Given the description of an element on the screen output the (x, y) to click on. 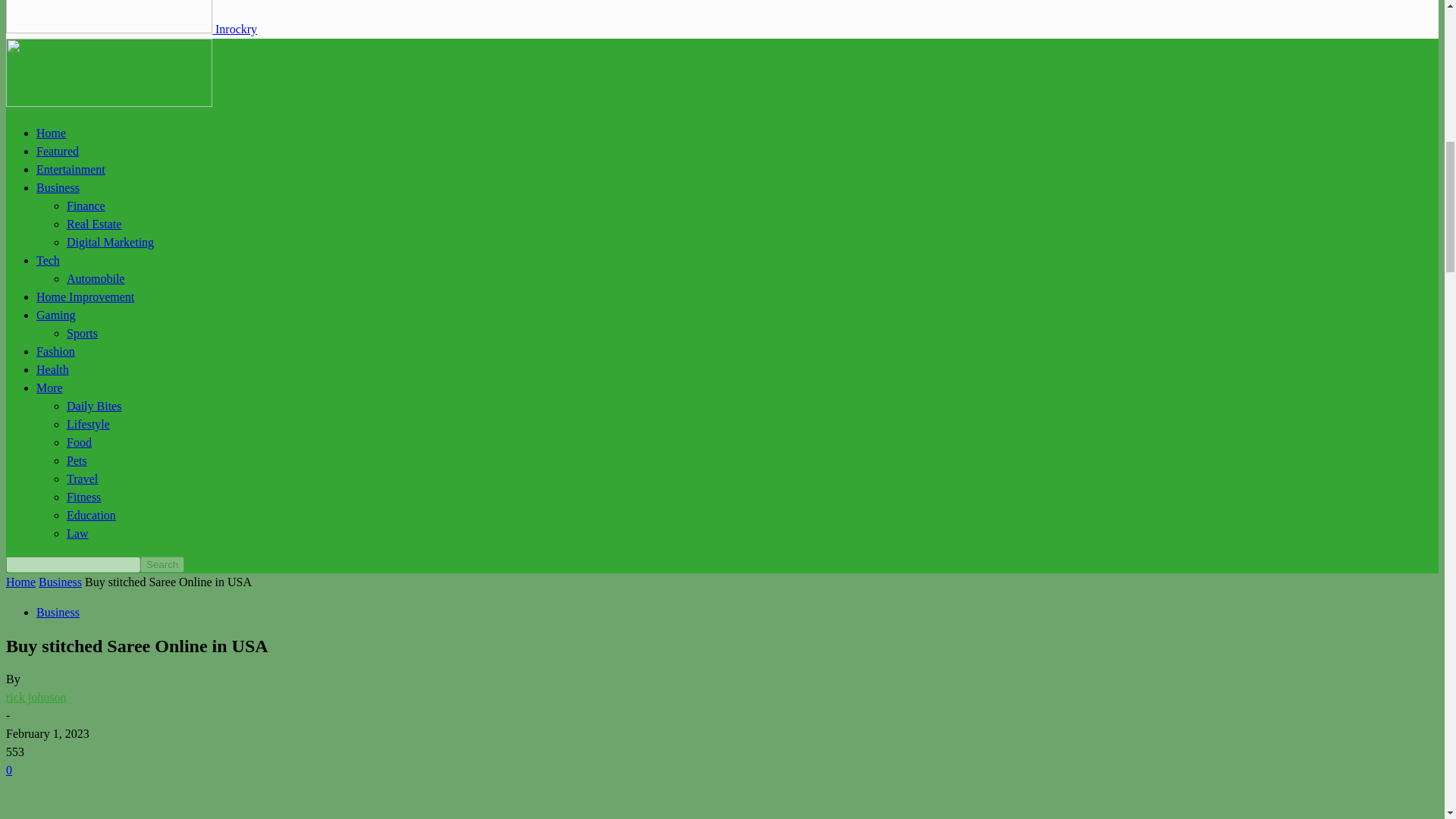
View all posts in Business (60, 581)
Search (161, 564)
